Given the description of an element on the screen output the (x, y) to click on. 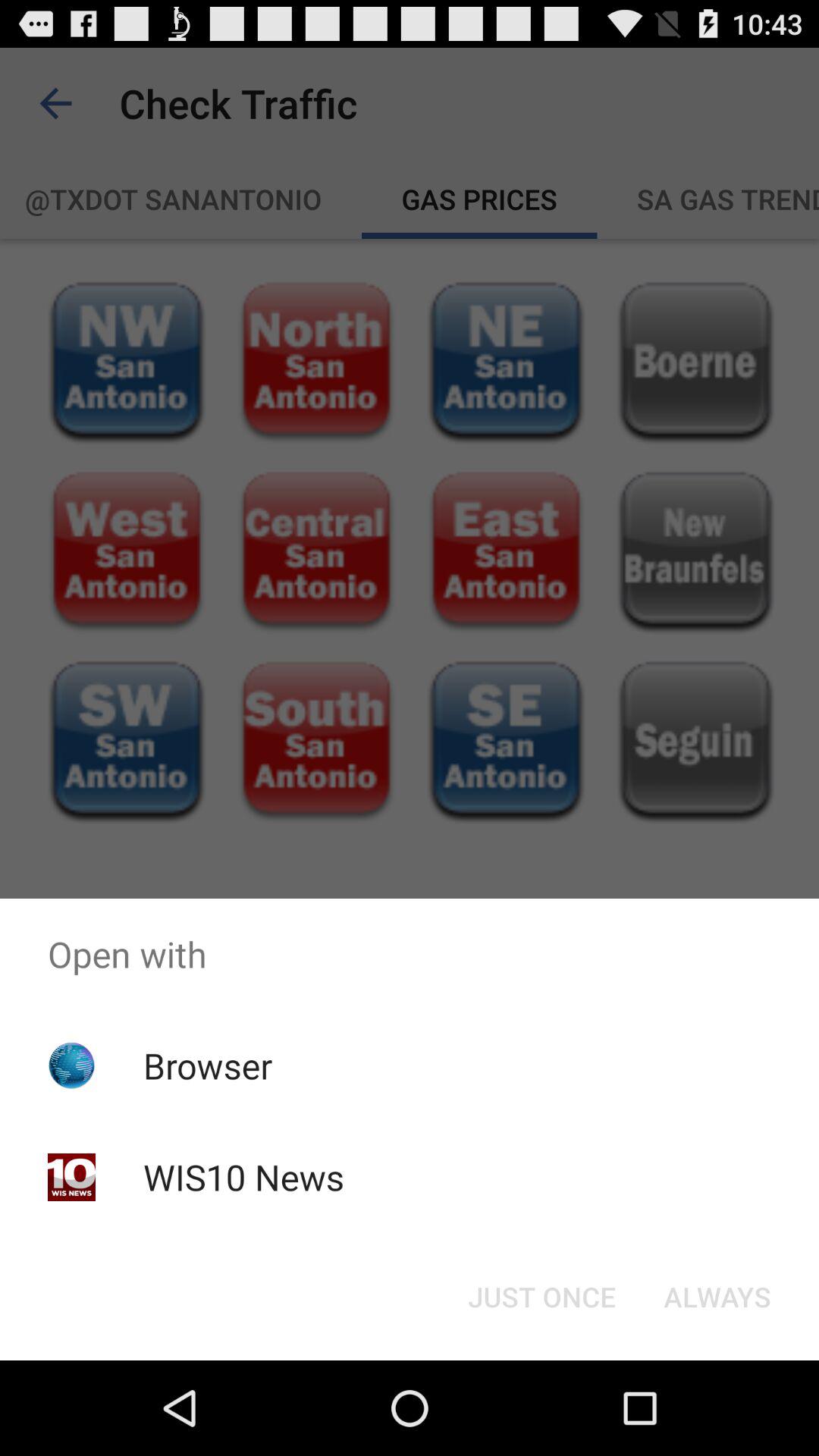
launch button next to always icon (541, 1296)
